Given the description of an element on the screen output the (x, y) to click on. 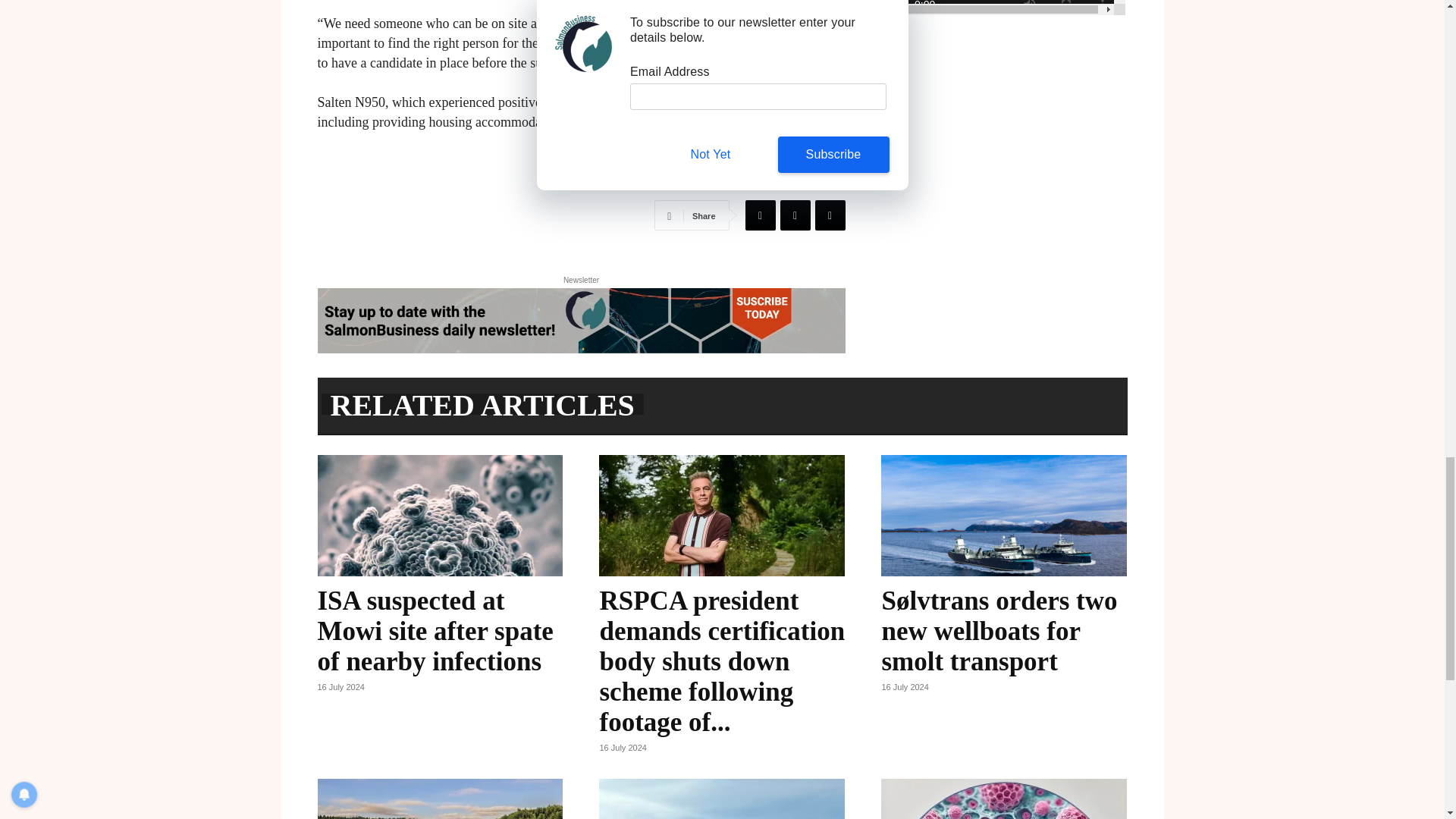
ISA suspected at Mowi site after spate of nearby infections (435, 631)
ISA suspected at Mowi site after spate of nearby infections (435, 631)
Twitter (793, 214)
Facebook (759, 214)
Linkedin (828, 214)
ISA suspected at Mowi site after spate of nearby infections (439, 515)
